Given the description of an element on the screen output the (x, y) to click on. 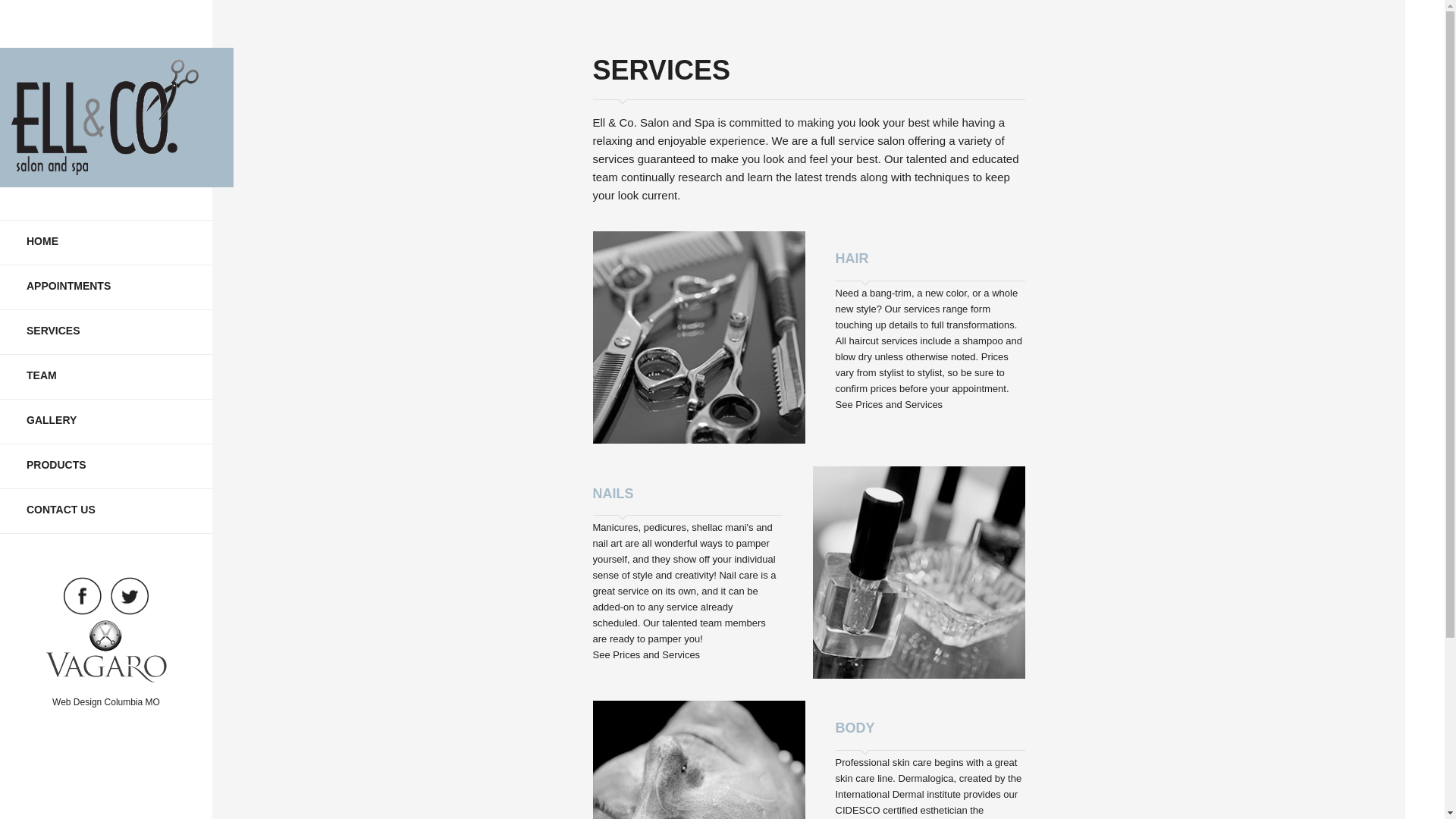
Visit ourdribbbleAccount (105, 650)
PRODUCTS (106, 466)
Web Design Columbia MO (106, 701)
Web Design Columbia MO (106, 701)
Visit ourfacebookAccount (81, 595)
Nails (646, 654)
CONTACT US (106, 510)
TEAM (106, 376)
See Prices and Services (646, 654)
See Prices and Services (889, 404)
